Given the description of an element on the screen output the (x, y) to click on. 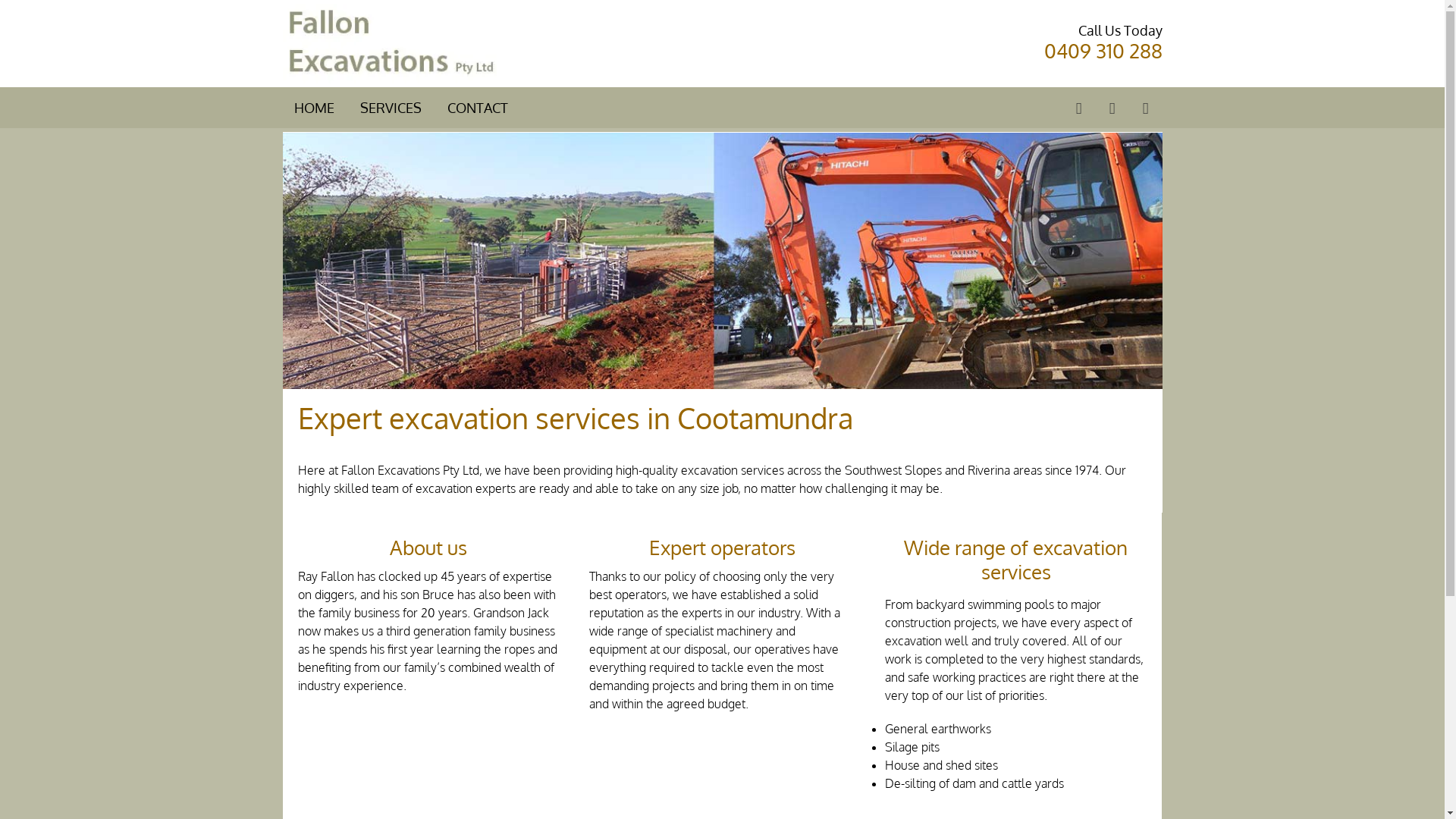
HOME Element type: text (314, 107)
0409 310 288 Element type: text (1102, 49)
CONTACT Element type: text (477, 107)
fallon excavations logo Element type: hover (389, 43)
SERVICES Element type: text (389, 107)
